Given the description of an element on the screen output the (x, y) to click on. 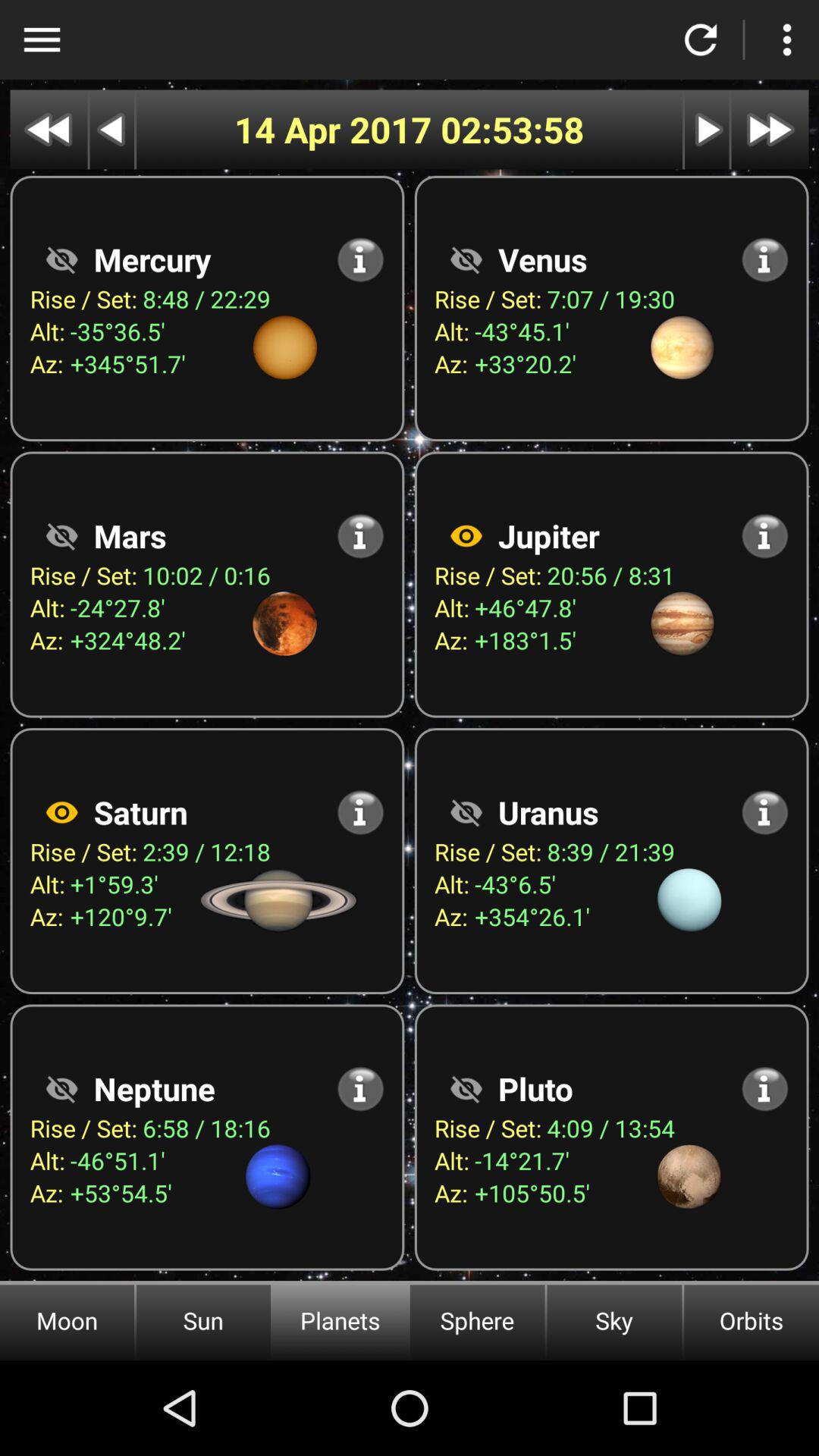
hide (61, 259)
